Given the description of an element on the screen output the (x, y) to click on. 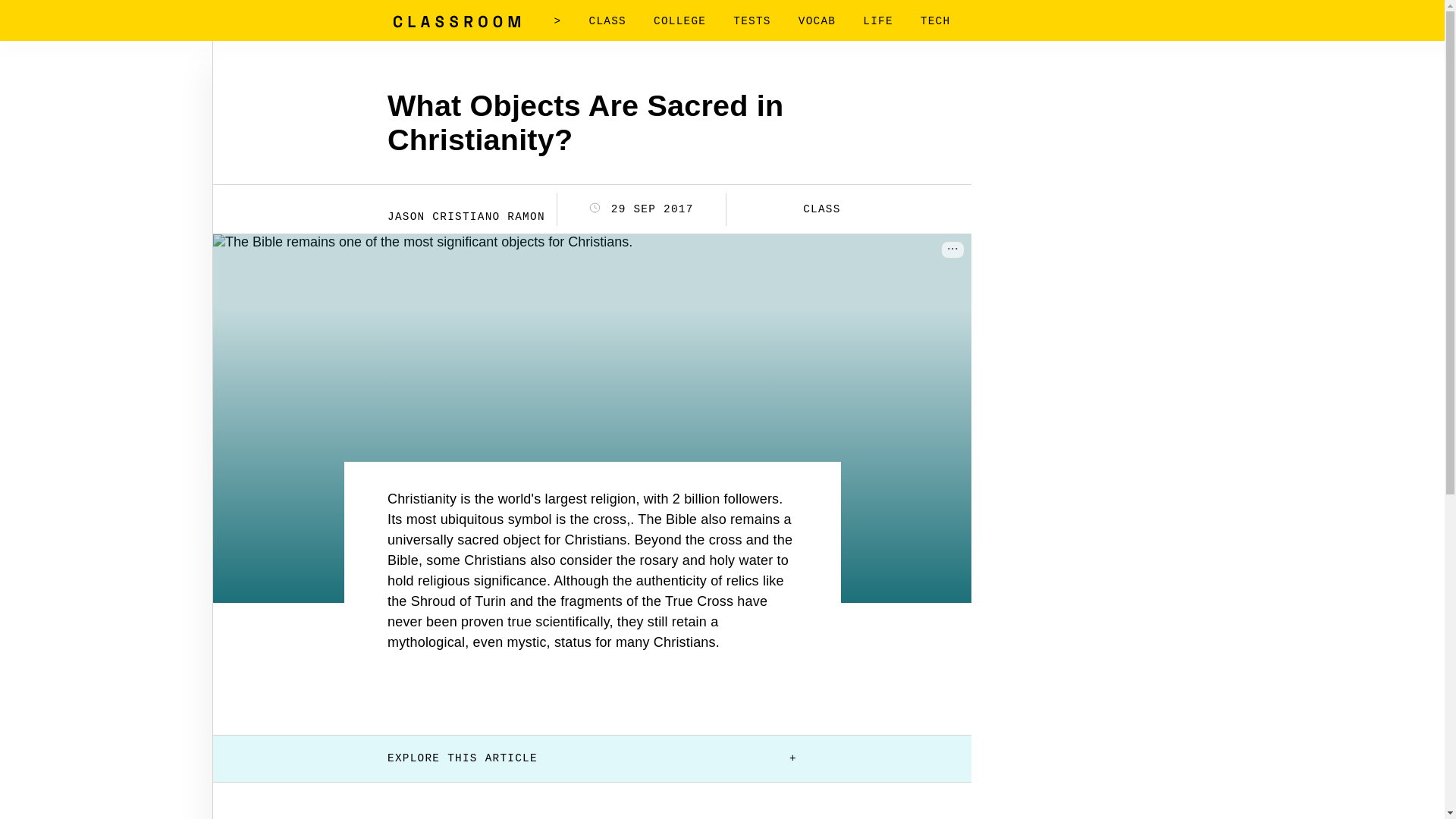
VOCAB (816, 21)
CLASS (607, 21)
TESTS (751, 21)
LIFE (878, 21)
TECH (935, 21)
CLASS (811, 209)
COLLEGE (679, 21)
